Given the description of an element on the screen output the (x, y) to click on. 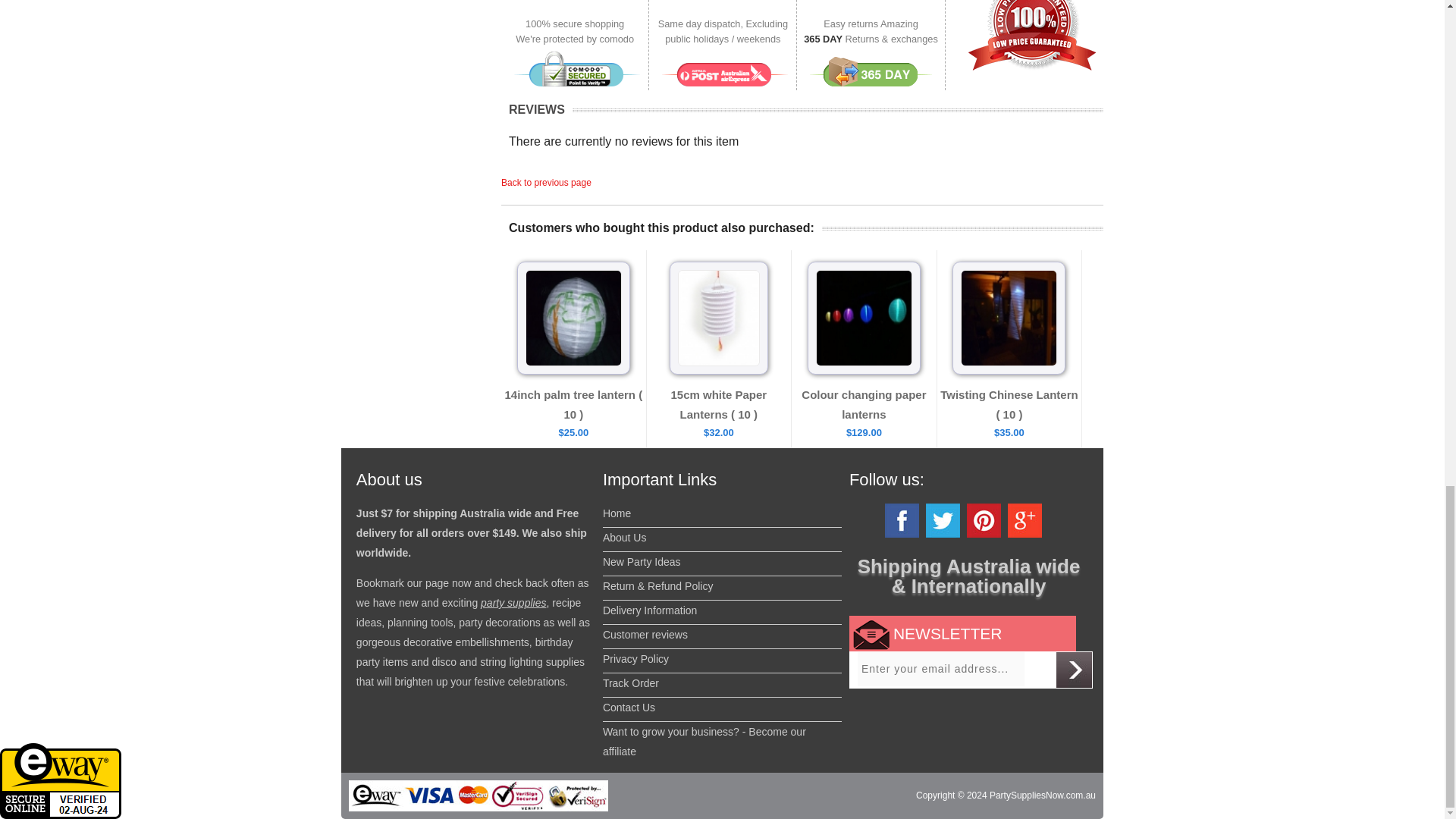
Back to previous page (545, 182)
Colour changing paper lanterns (864, 404)
